Given the description of an element on the screen output the (x, y) to click on. 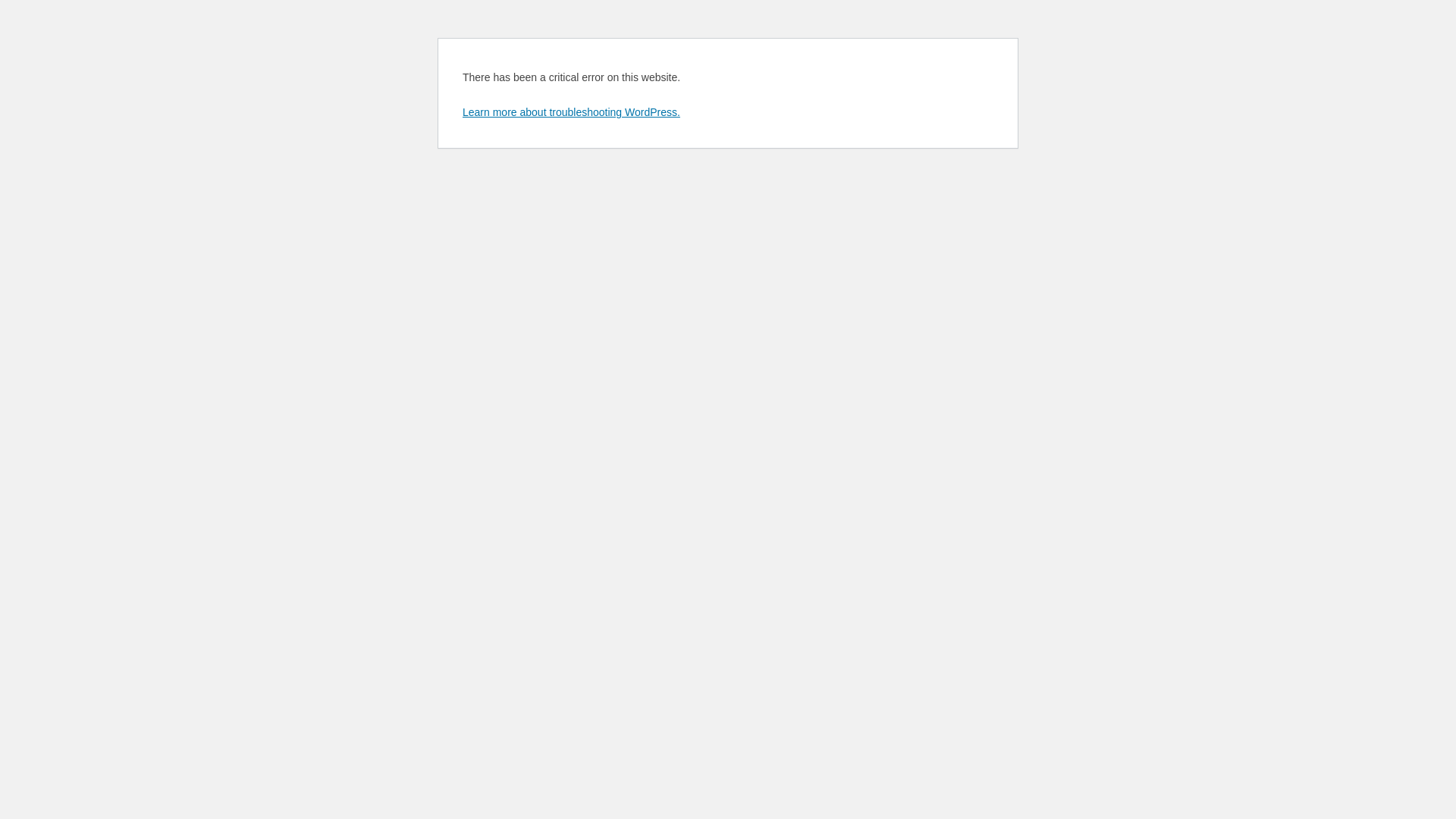
Learn more about troubleshooting WordPress. Element type: text (571, 112)
